Given the description of an element on the screen output the (x, y) to click on. 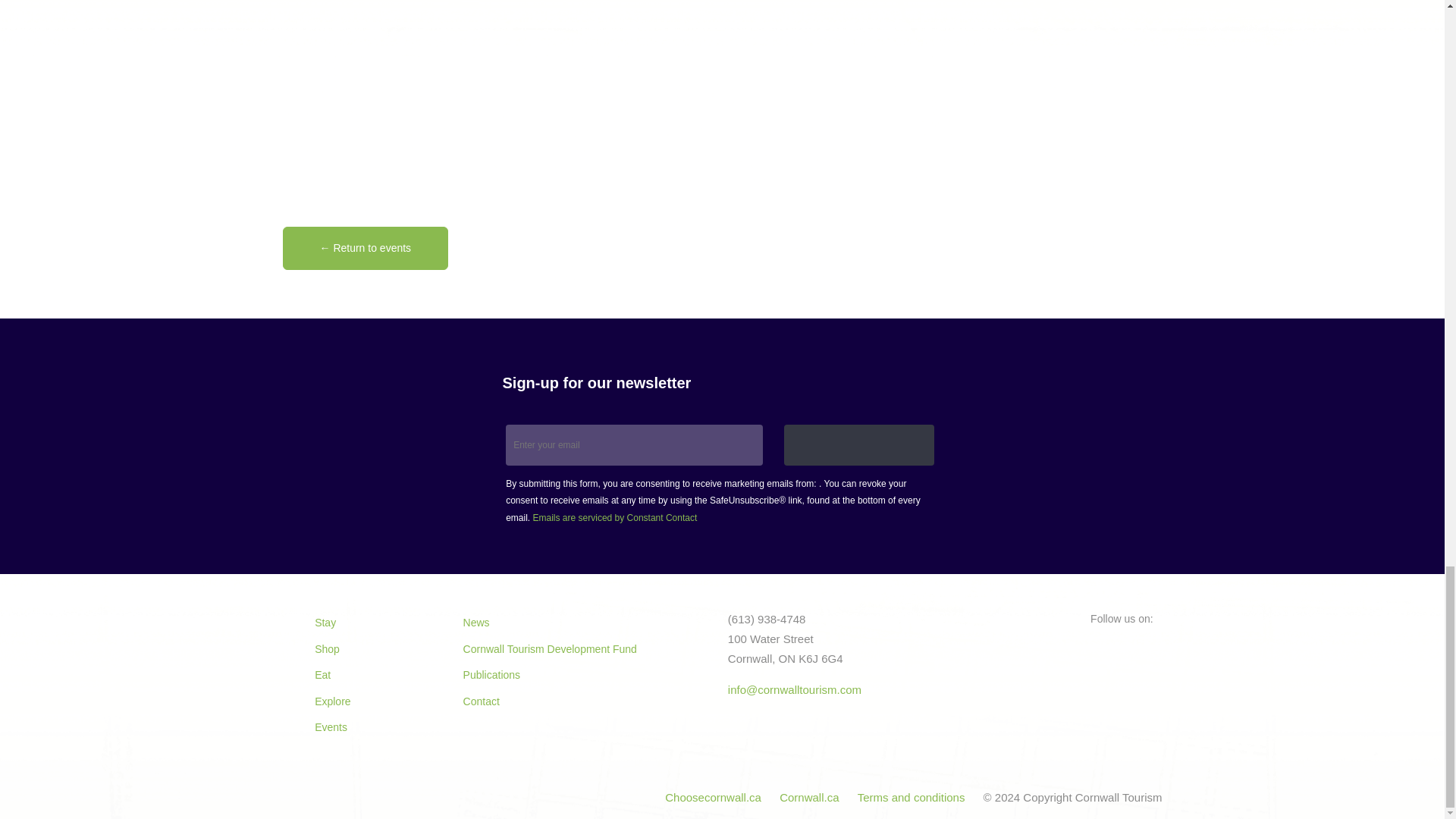
Sign up (859, 445)
